Given the description of an element on the screen output the (x, y) to click on. 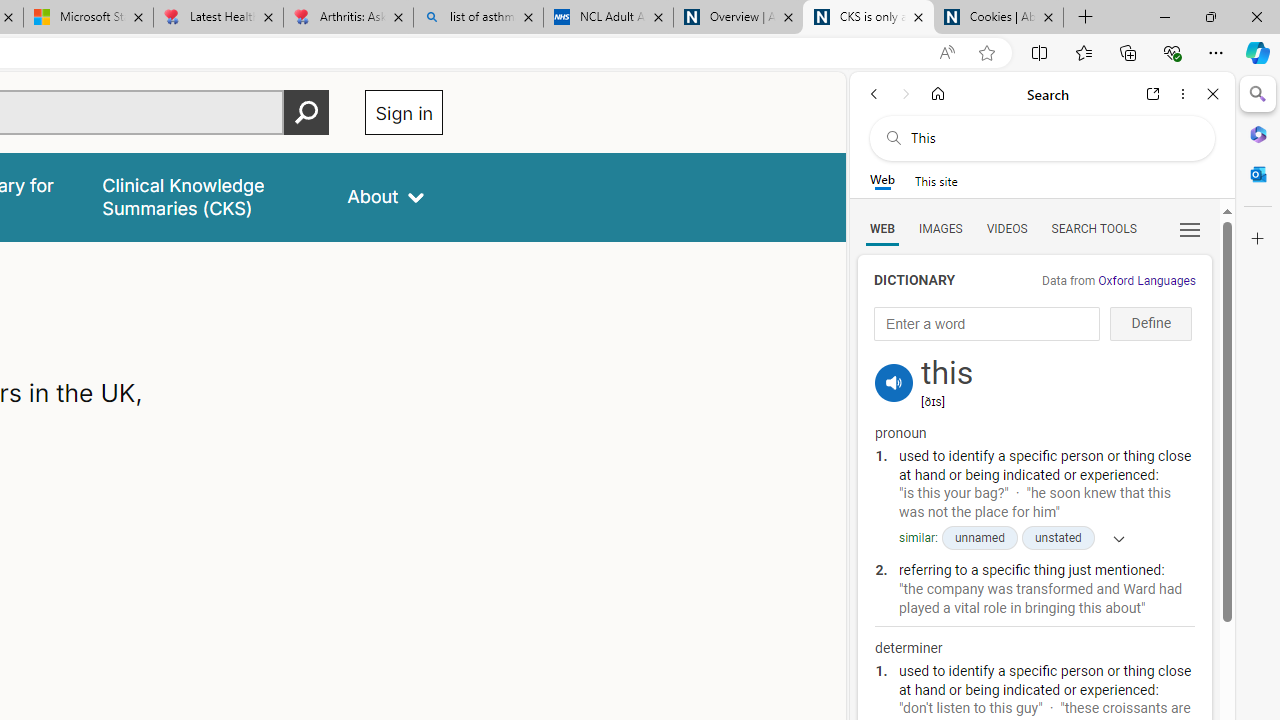
false (207, 196)
Add this page to favorites (Ctrl+D) (986, 53)
unstated (1057, 538)
Search Filter, IMAGES (939, 228)
Favorites (1083, 52)
More options (1182, 93)
SEARCH TOOLS (1093, 228)
list of asthma inhalers uk - Search (477, 17)
Search (1258, 94)
Microsoft 365 (1258, 133)
